Given the description of an element on the screen output the (x, y) to click on. 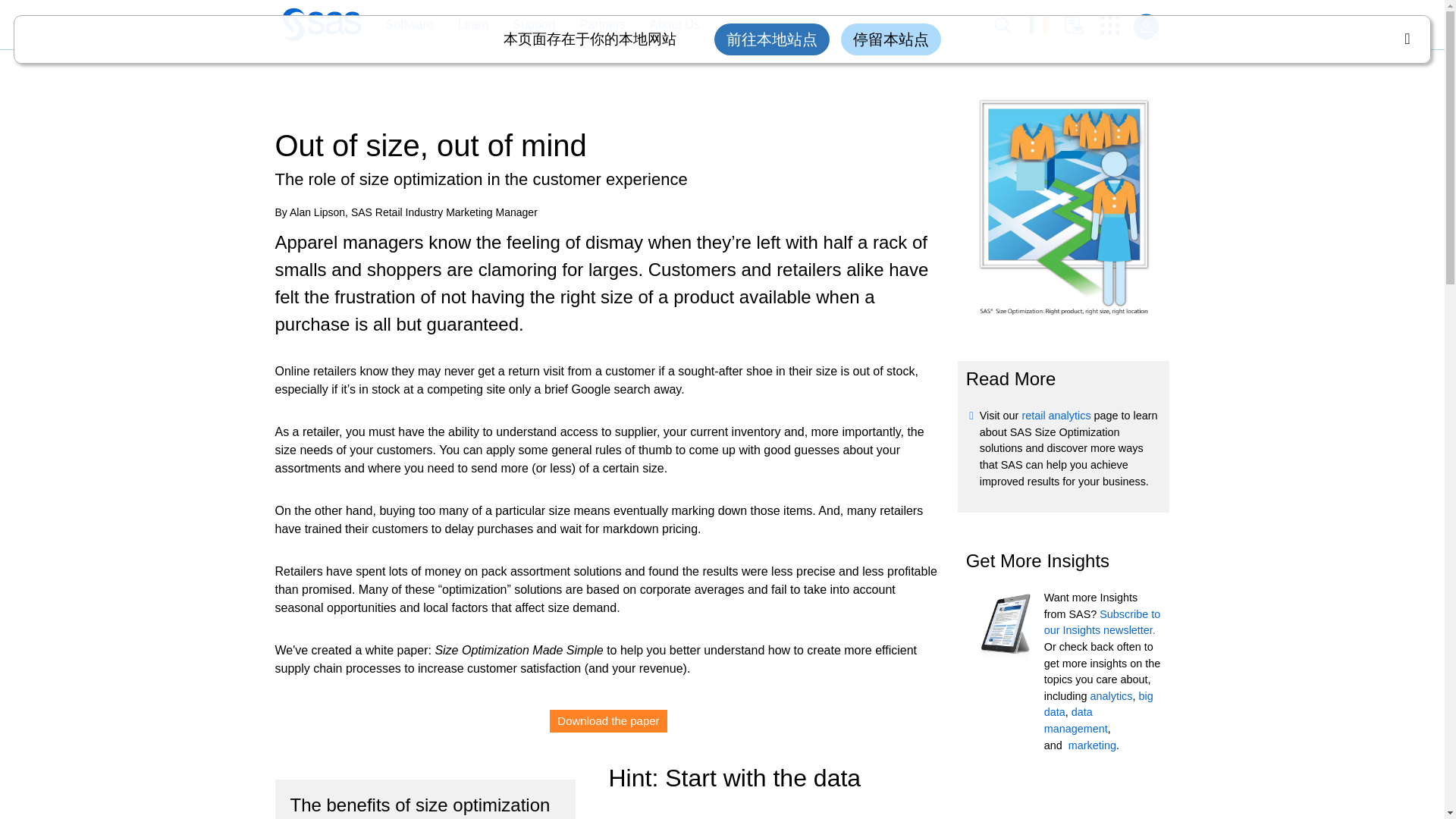
Marketing Insights (1092, 745)
Software (401, 24)
About Us (674, 24)
Sign In (1145, 26)
Learn (465, 24)
Contact Us (1082, 25)
About Us (667, 24)
SAS Sites (1114, 25)
Big Data Insights (1098, 704)
Partners (602, 24)
